Given the description of an element on the screen output the (x, y) to click on. 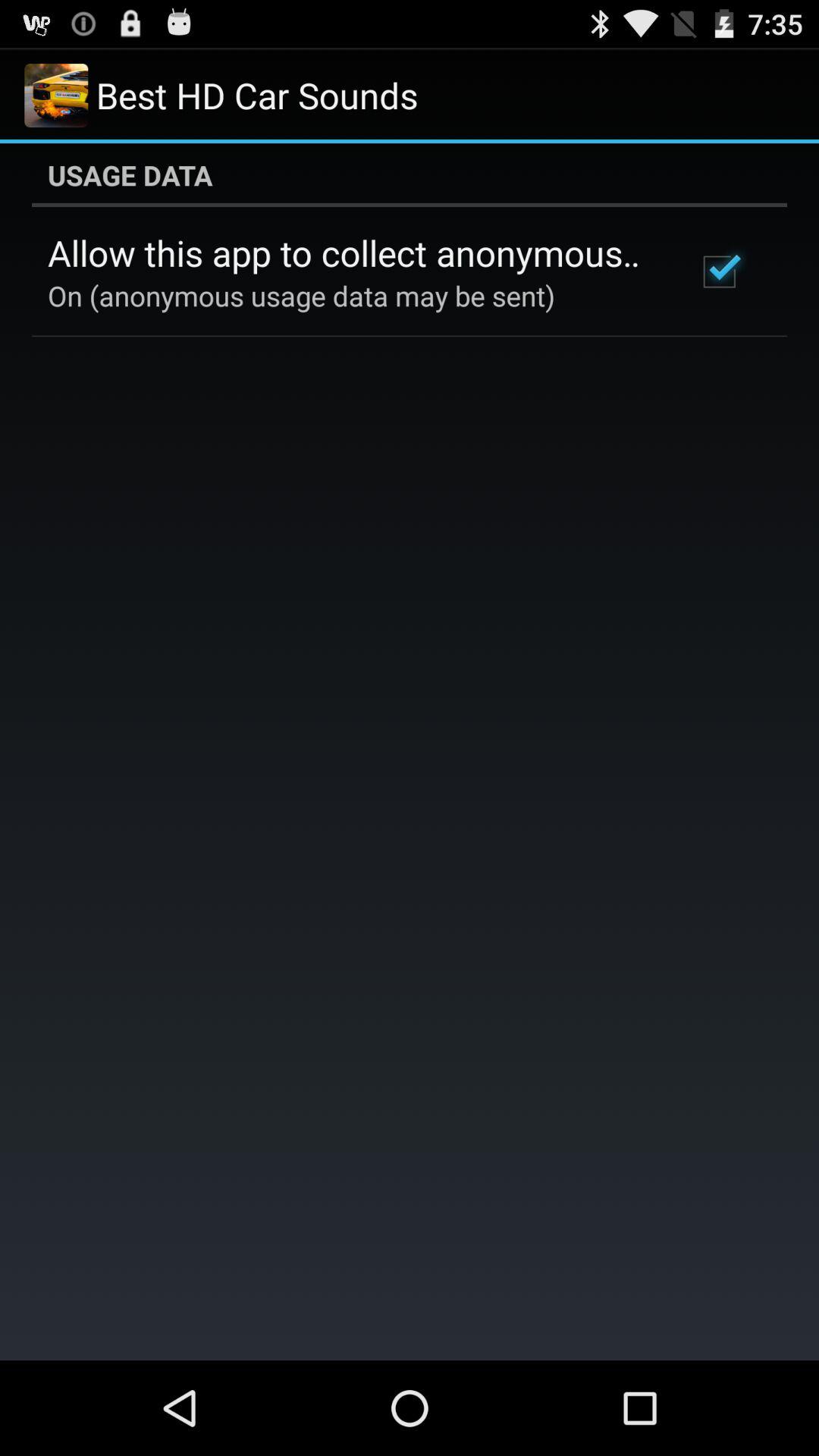
select item below usage data item (351, 252)
